Given the description of an element on the screen output the (x, y) to click on. 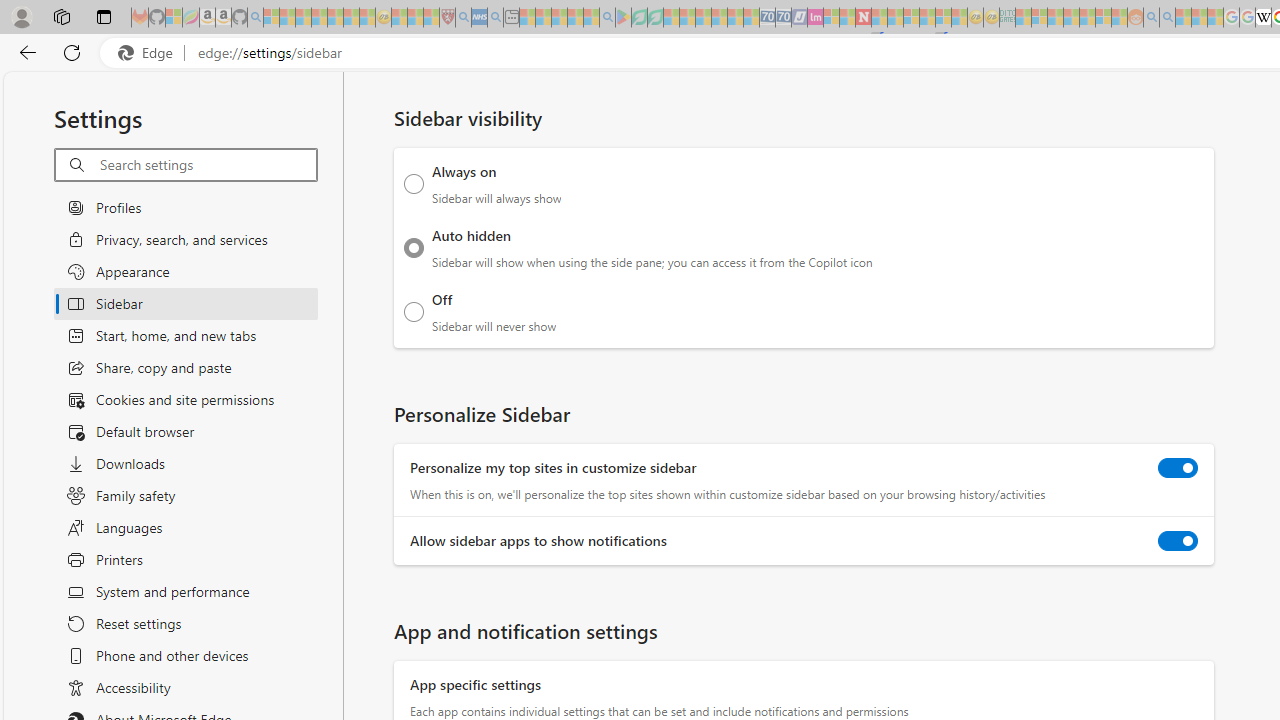
Personalize my top sites in customize sidebar (1178, 467)
Search settings (207, 165)
Allow sidebar apps to show notifications (1178, 540)
